Given the description of an element on the screen output the (x, y) to click on. 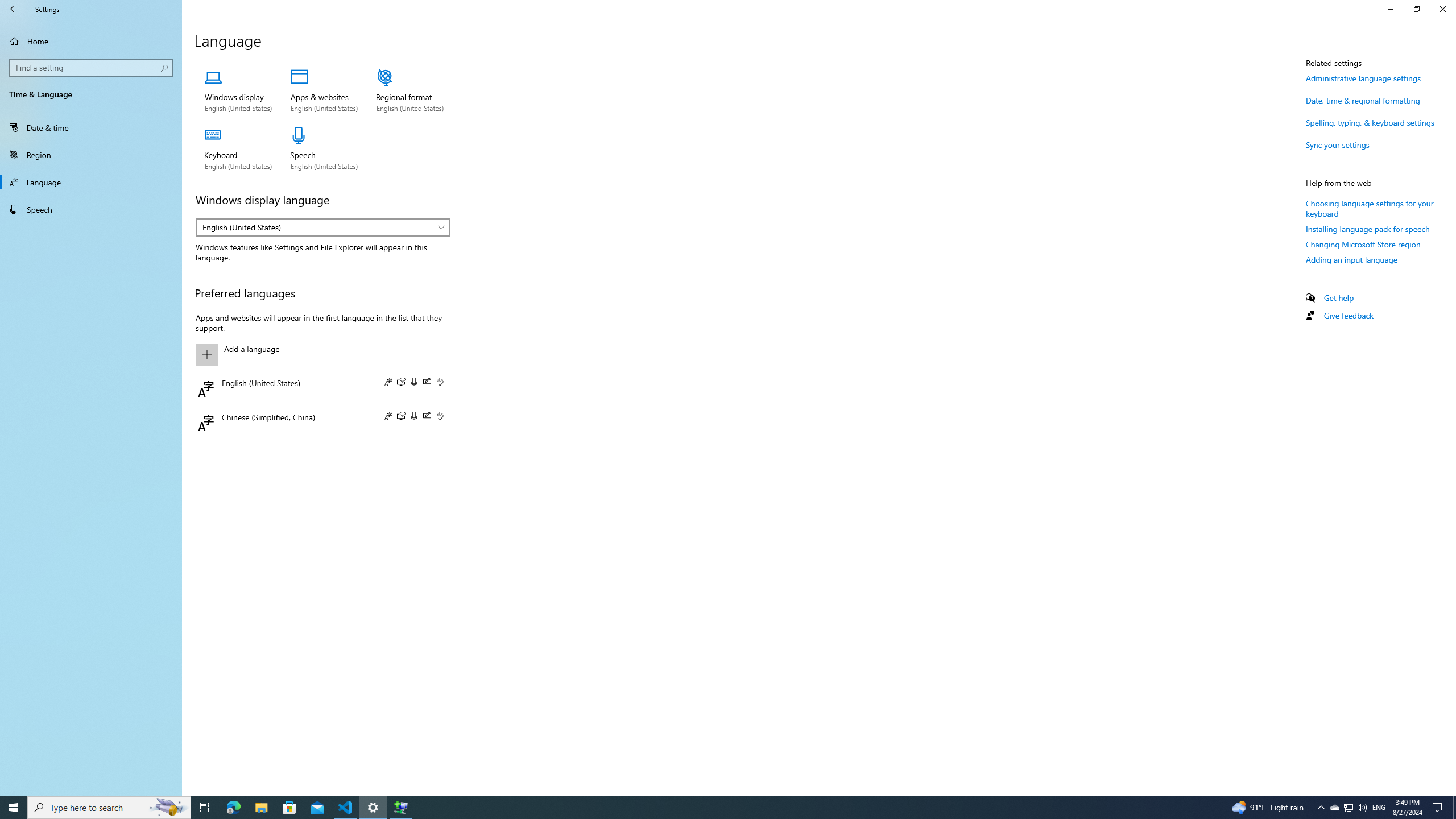
Add a language (319, 354)
Manage speech language (324, 148)
Language (91, 181)
Close Settings (1442, 9)
Speech (91, 208)
Changing Microsoft Store region (1363, 244)
Manage apps and websites language (324, 90)
Tray Input Indicator - English (United States) (1378, 807)
Spelling, typing, & keyboard settings (1370, 122)
Adding an input language (1351, 259)
Extensible Wizards Host Process - 1 running window (400, 807)
